Given the description of an element on the screen output the (x, y) to click on. 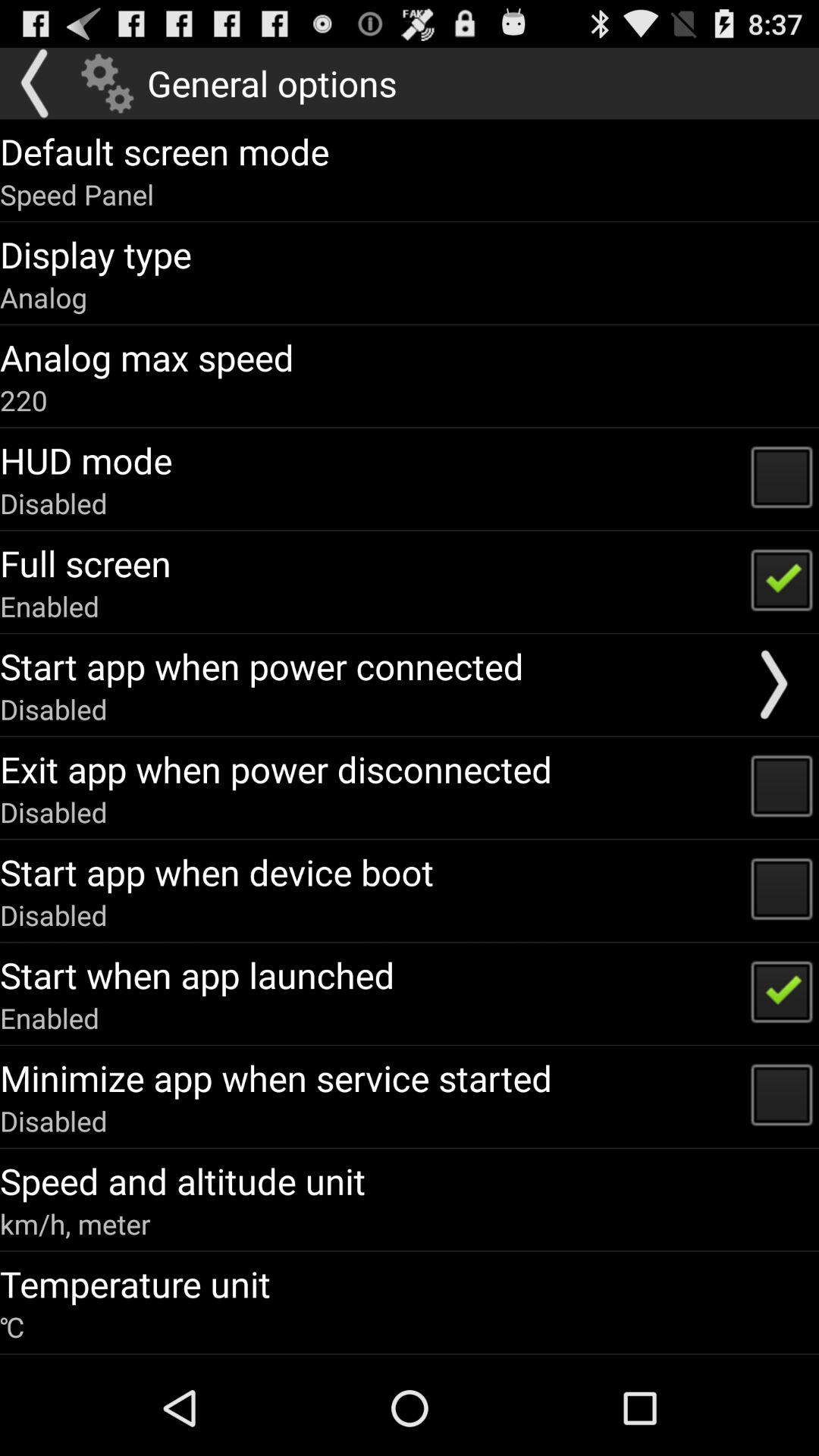
tools function (107, 83)
